Given the description of an element on the screen output the (x, y) to click on. 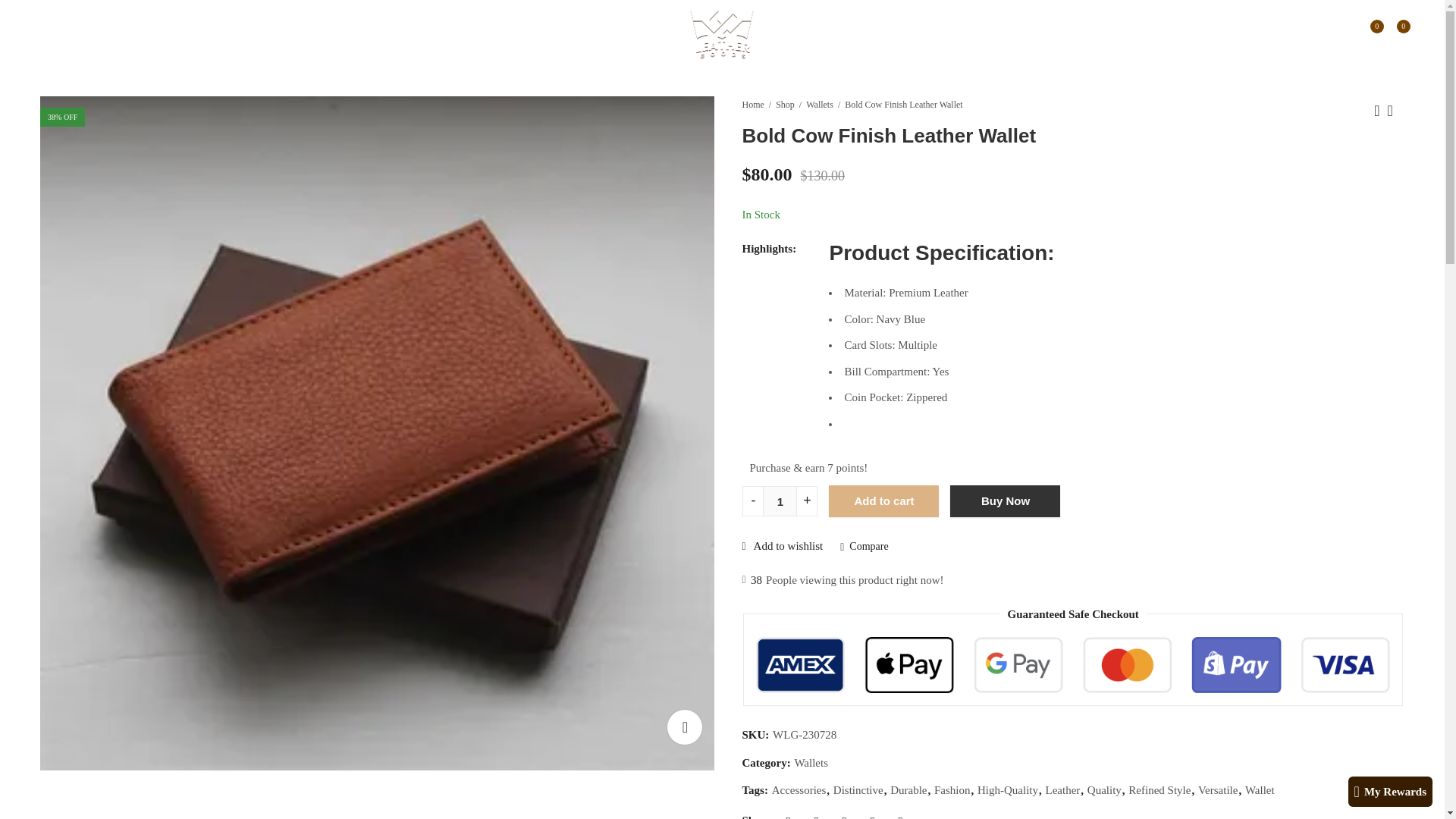
Rewards (230, 34)
Distinctive (857, 790)
Quality (1104, 790)
Leather (1062, 790)
High-Quality (1007, 790)
Home (751, 104)
Lightbox (683, 727)
Shop (785, 104)
Refined Style (1159, 790)
Women (103, 34)
